Given the description of an element on the screen output the (x, y) to click on. 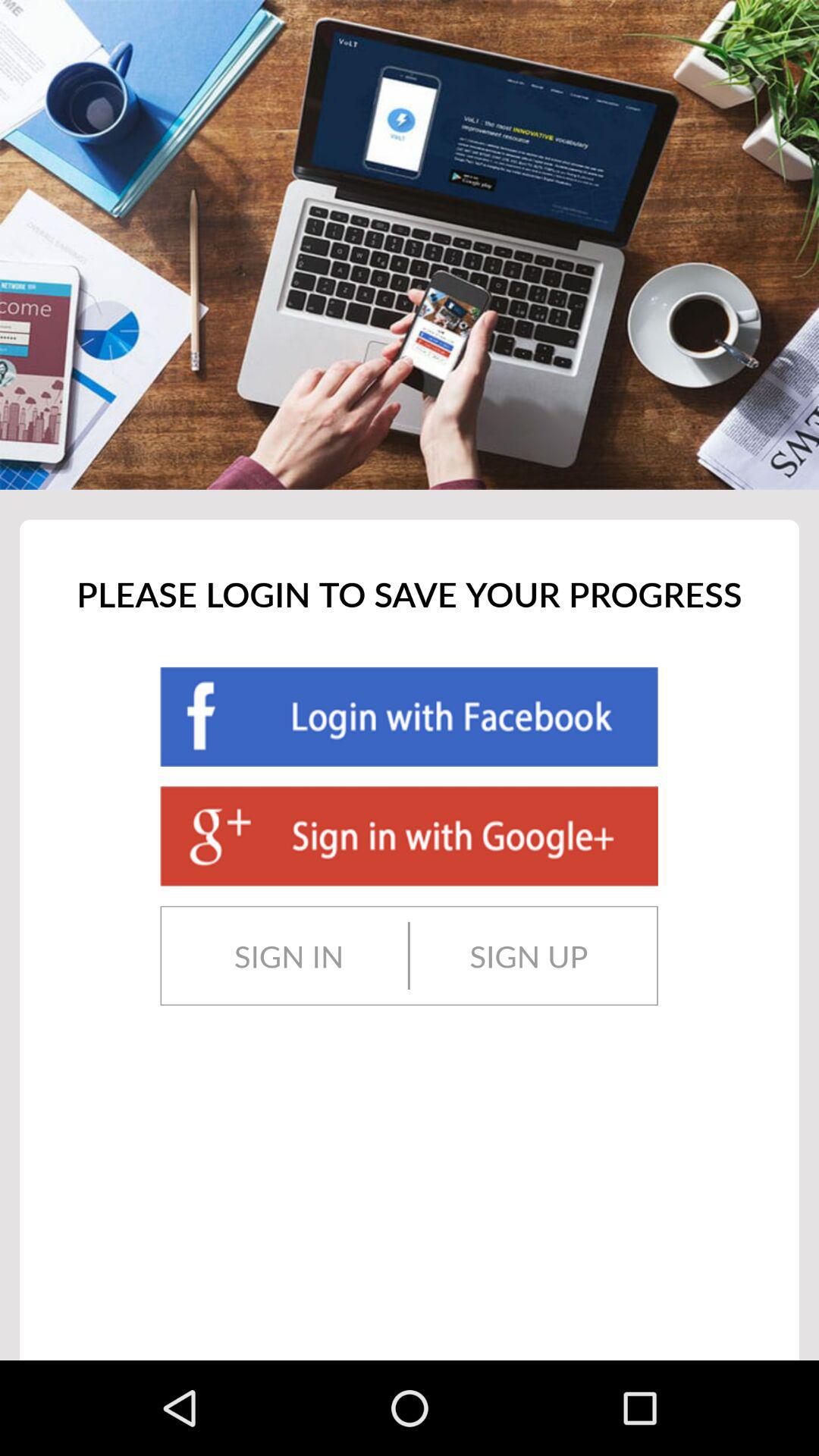
facebook sign-in (409, 716)
